Given the description of an element on the screen output the (x, y) to click on. 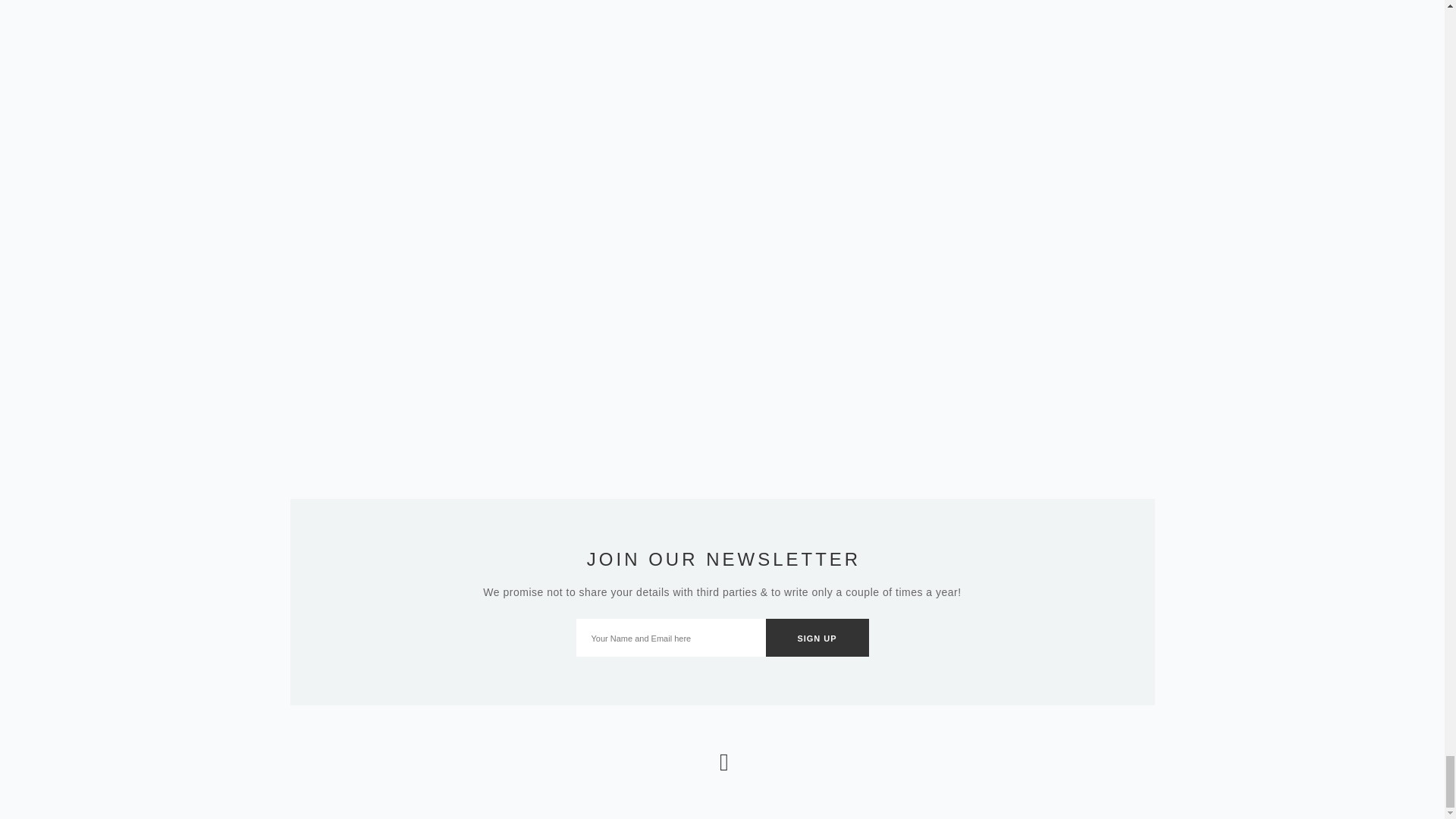
Sign Up (817, 637)
Sign Up (817, 637)
